Given the description of an element on the screen output the (x, y) to click on. 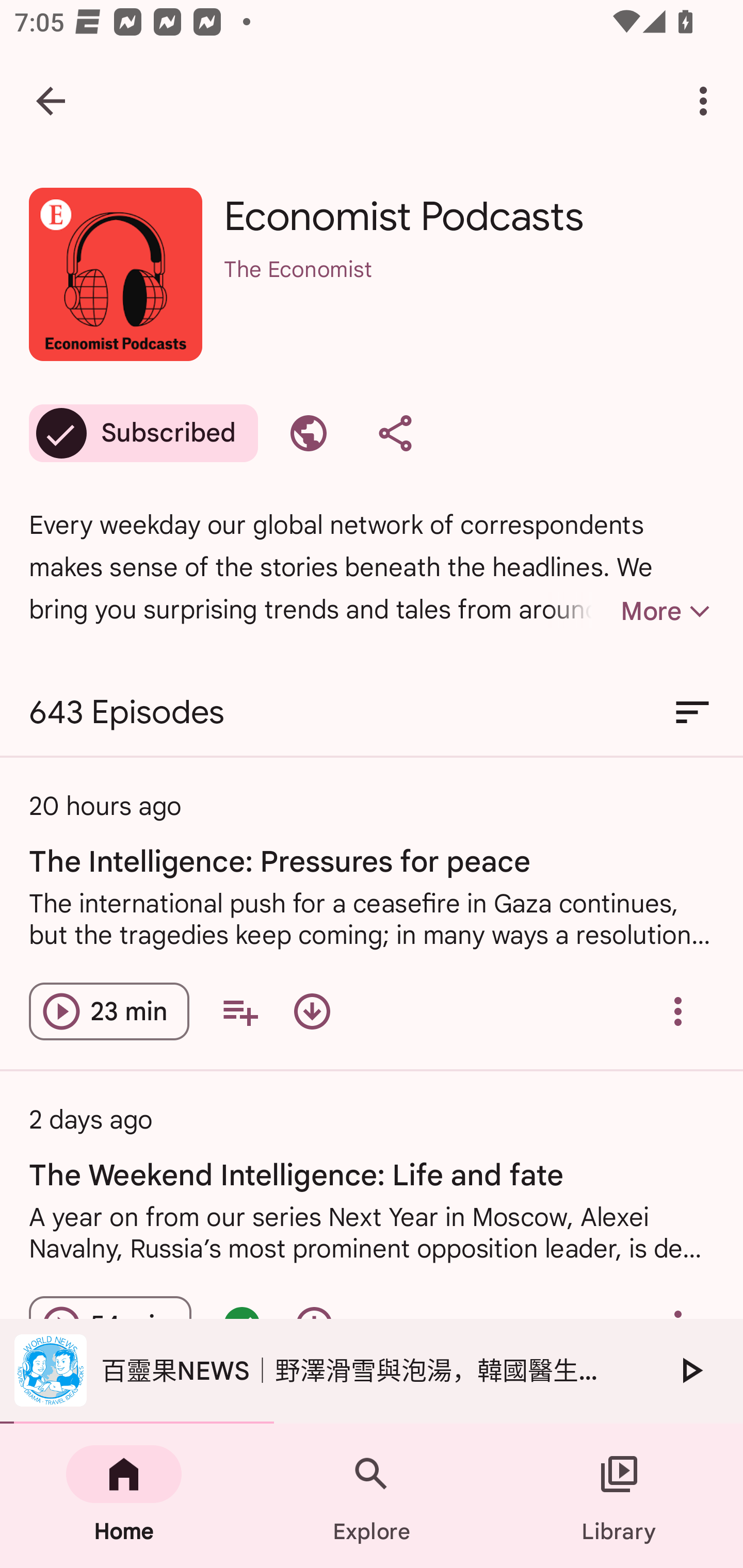
Navigate up (50, 101)
More options (706, 101)
The Economist (468, 295)
Subscribed (142, 433)
Visit website (308, 433)
Share (395, 433)
More (631, 610)
Sort (692, 712)
Add to your queue (239, 1011)
Download episode (312, 1011)
Overflow menu (677, 1011)
Play (690, 1370)
Explore (371, 1495)
Library (619, 1495)
